Given the description of an element on the screen output the (x, y) to click on. 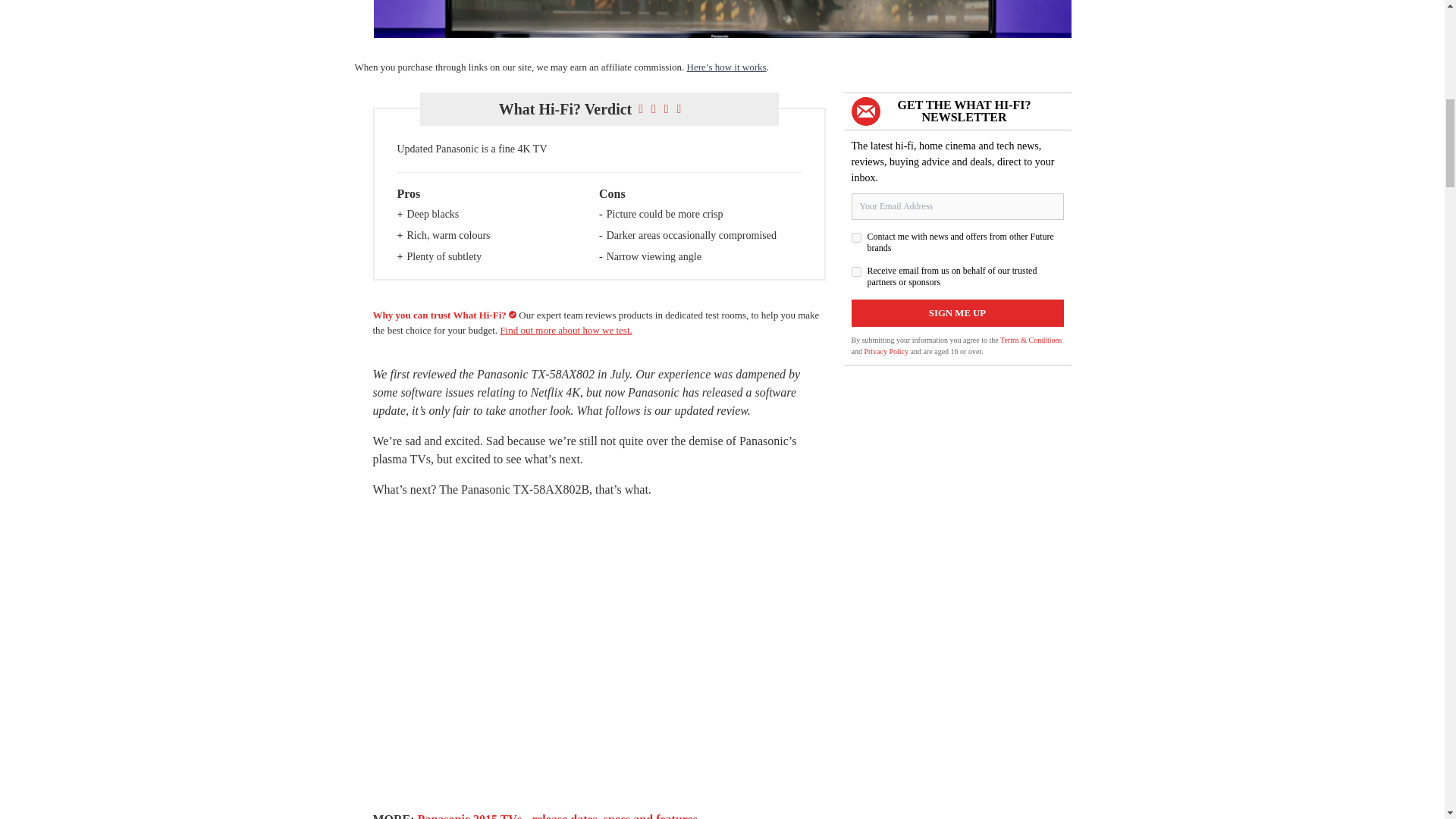
Sign me up (956, 312)
on (855, 237)
on (855, 271)
